Given the description of an element on the screen output the (x, y) to click on. 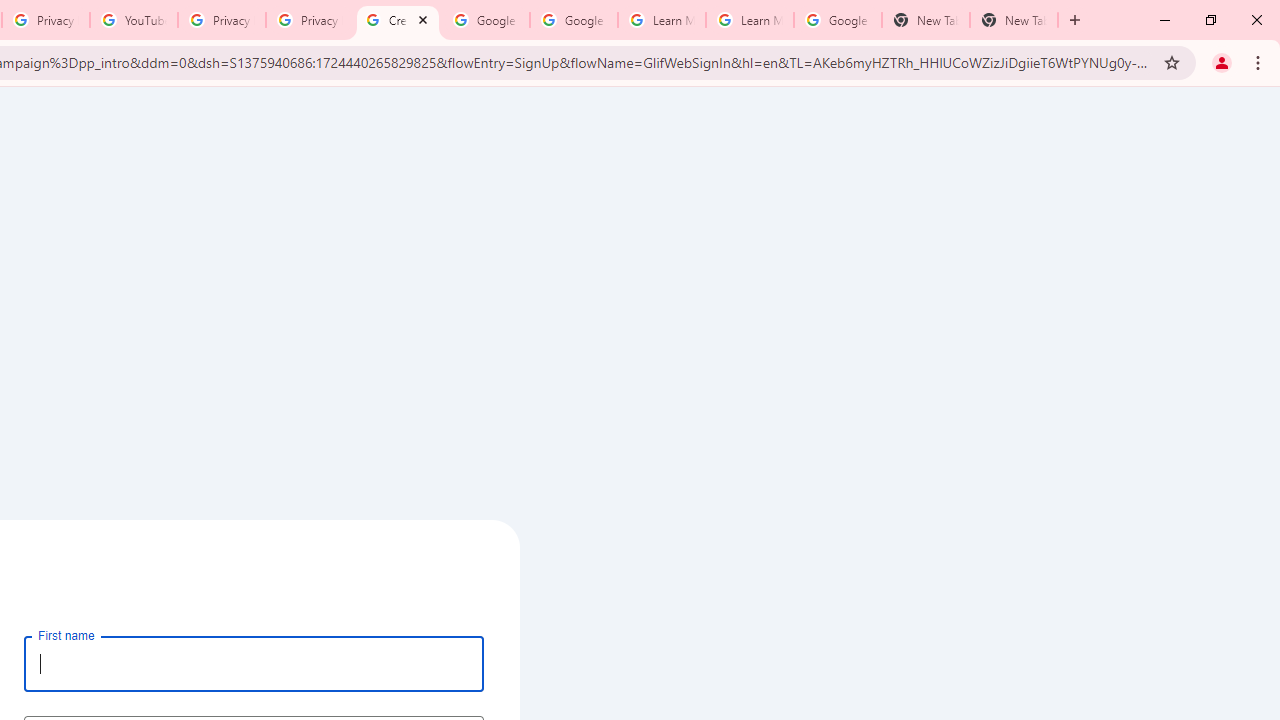
Google Account (837, 20)
